Given the description of an element on the screen output the (x, y) to click on. 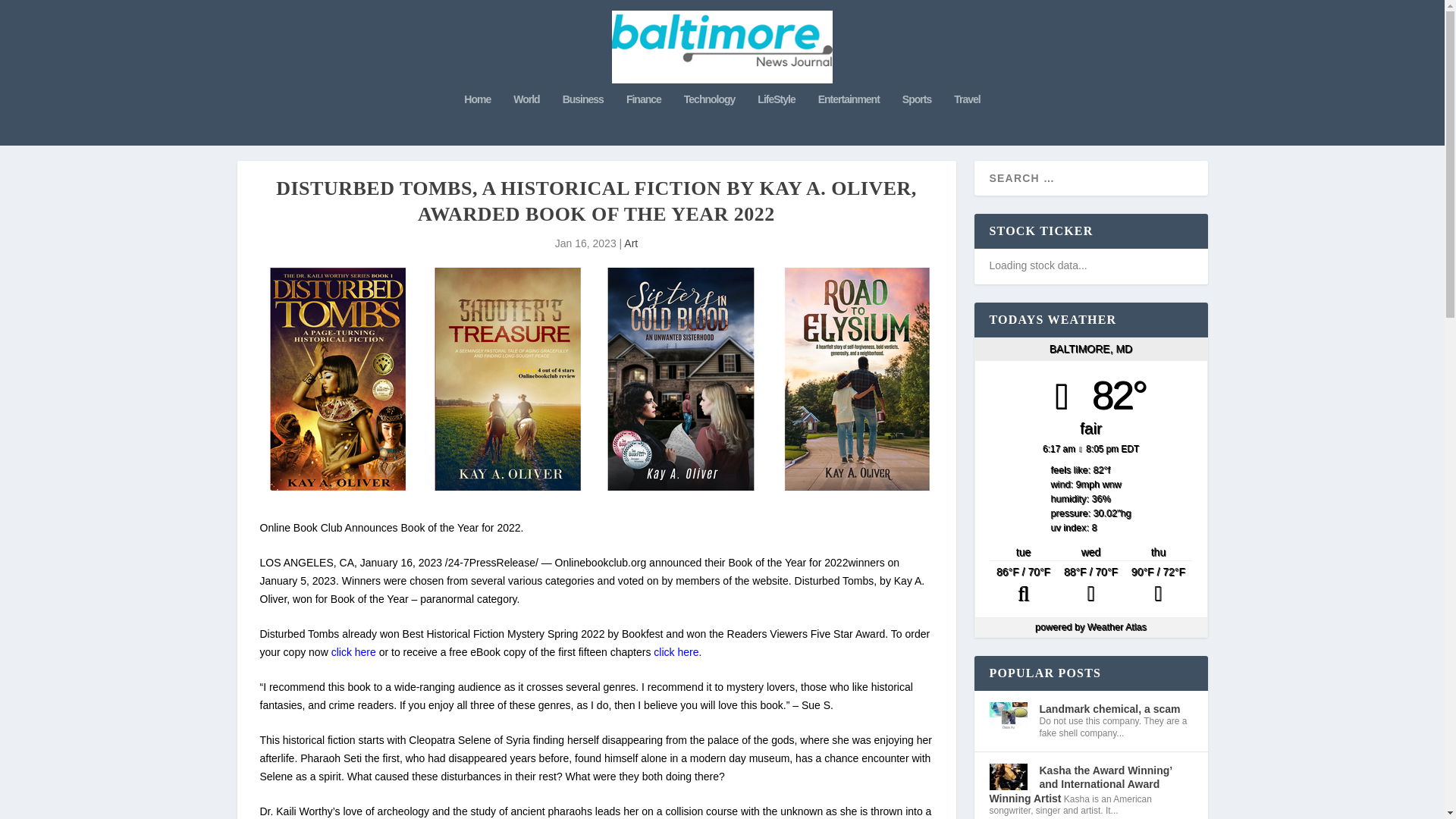
Technology (709, 119)
Mostly Sunny (1158, 585)
Entertainment (848, 119)
Sunny (1090, 585)
click here (353, 652)
Search (31, 13)
click here. (677, 652)
Partly Cloudy (1023, 585)
Art (630, 243)
